Given the description of an element on the screen output the (x, y) to click on. 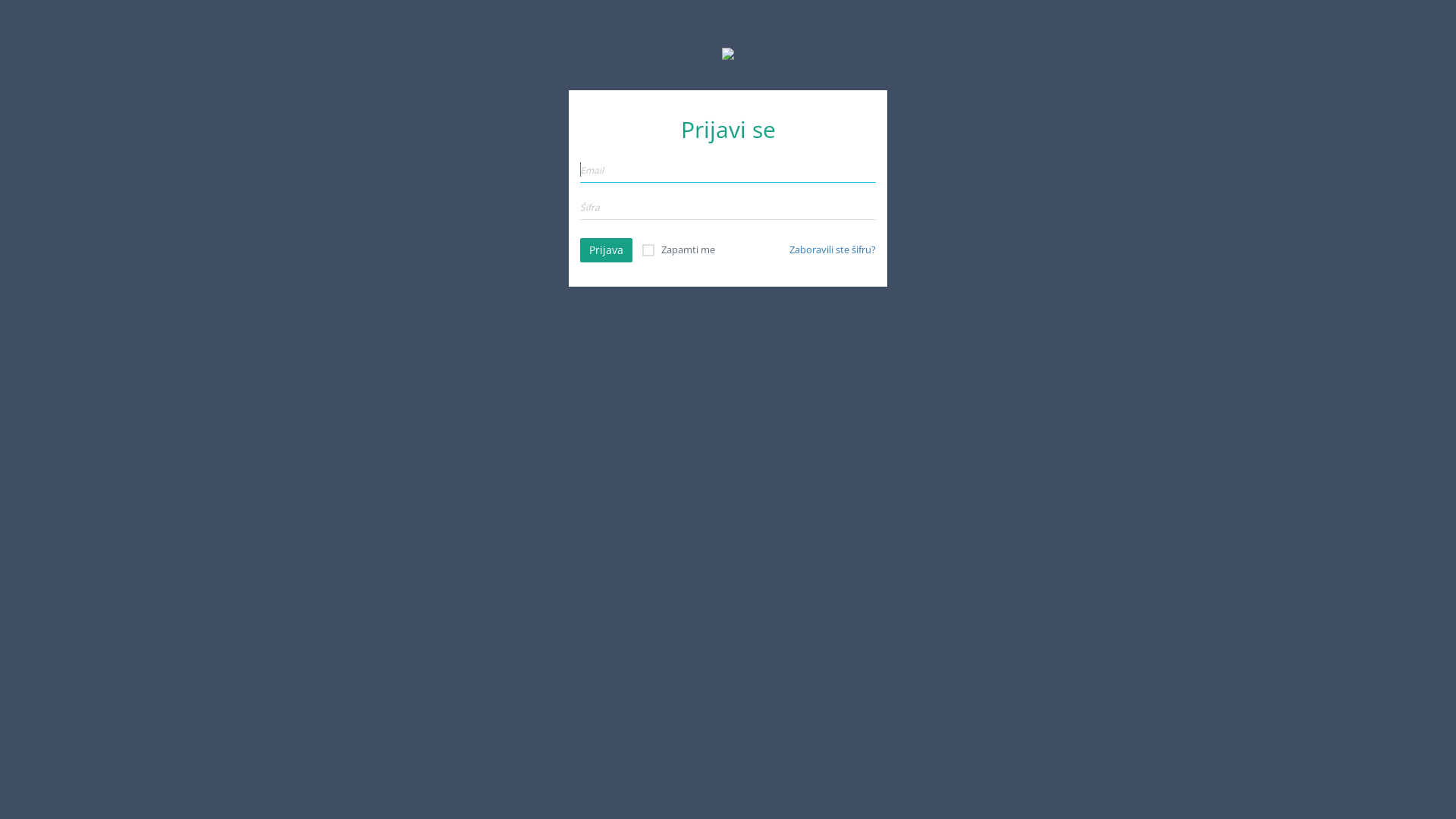
Prijava Element type: text (606, 250)
